Given the description of an element on the screen output the (x, y) to click on. 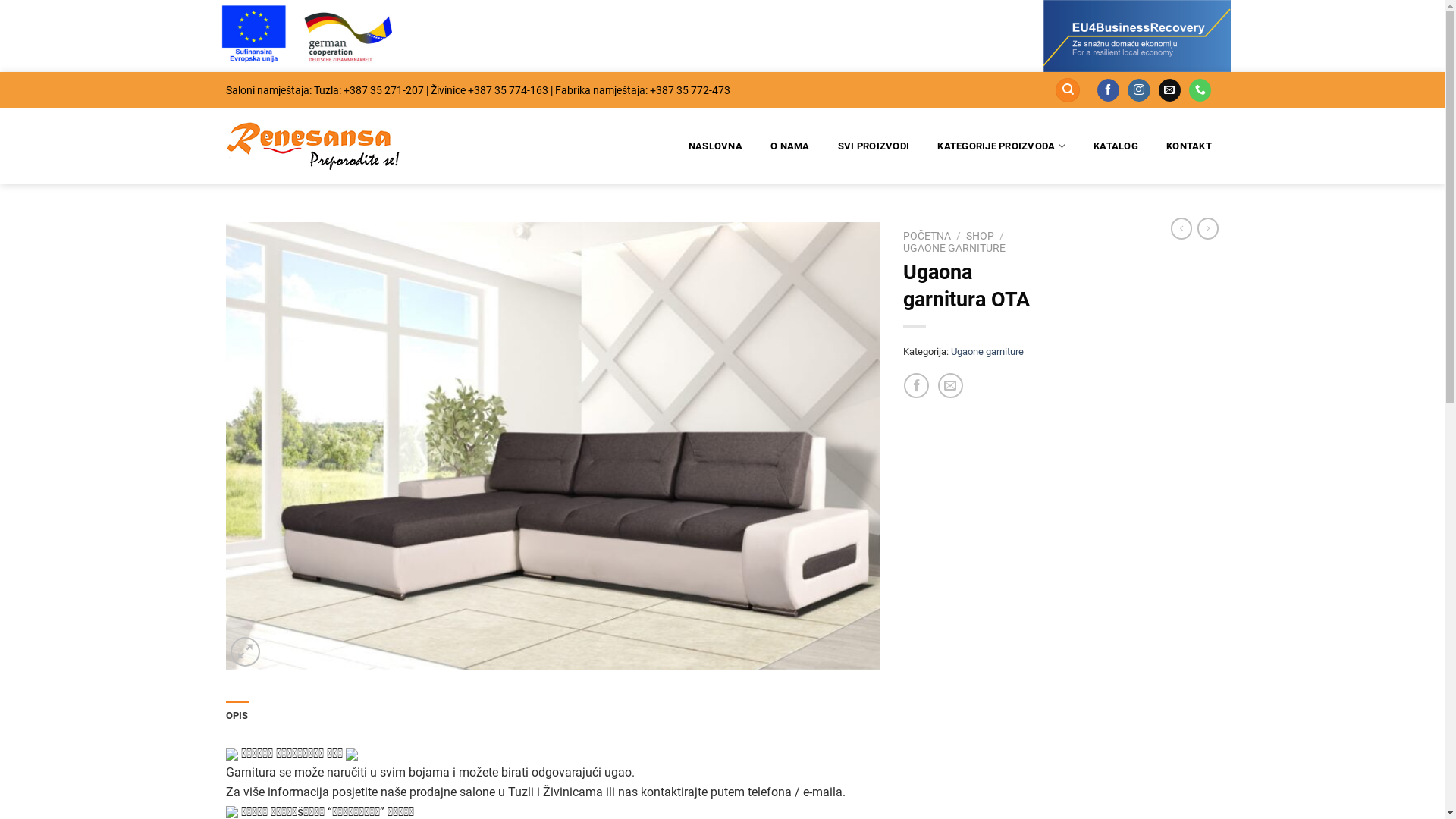
UGAONE GARNITURE Element type: text (954, 247)
NASLOVNA Element type: text (714, 146)
SHOP Element type: text (980, 235)
Email to a Friend Element type: hover (950, 385)
Zoom Element type: hover (245, 651)
+387 35 772-473 Element type: text (689, 90)
KONTAKT Element type: text (1189, 146)
Share on Facebook Element type: hover (915, 385)
+387 35 271-207 Element type: text (382, 90)
Send us an email Element type: hover (1169, 89)
Ugaona OTTA Element type: hover (552, 446)
Follow on Facebook Element type: hover (1108, 89)
KATEGORIJE PROIZVODA Element type: text (1001, 146)
KATALOG Element type: text (1115, 146)
Follow on Instagram Element type: hover (1138, 89)
Call us Element type: hover (1200, 89)
OPIS Element type: text (236, 715)
Ugaone garniture Element type: text (986, 351)
O NAMA Element type: text (790, 146)
SVI PROIZVODI Element type: text (873, 146)
+387 35 774-163 Element type: text (507, 90)
